Given the description of an element on the screen output the (x, y) to click on. 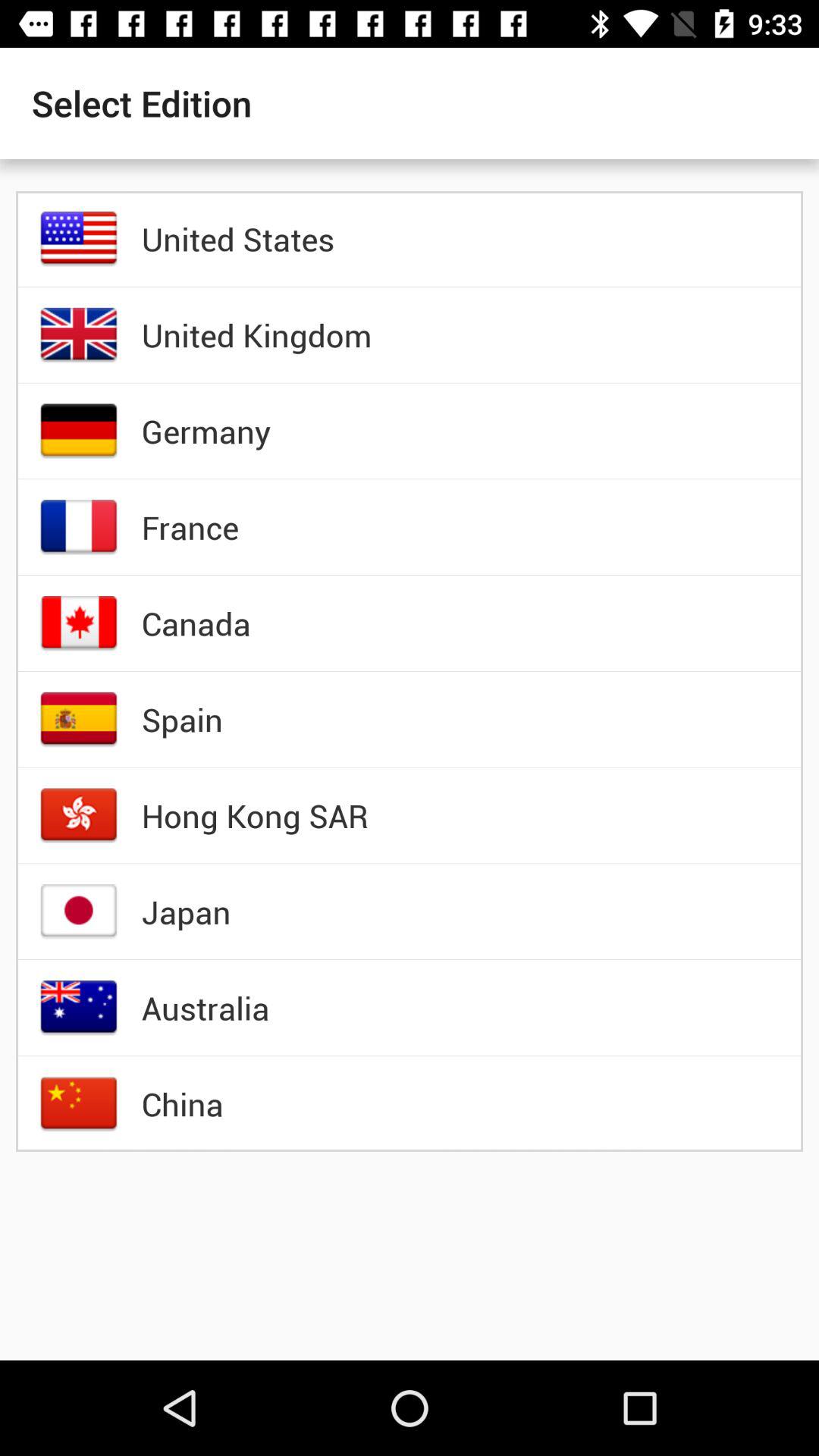
click on the icon which is on the left side of australia (78, 1007)
click on the japan flag (78, 911)
click on the france flag (78, 526)
